Given the description of an element on the screen output the (x, y) to click on. 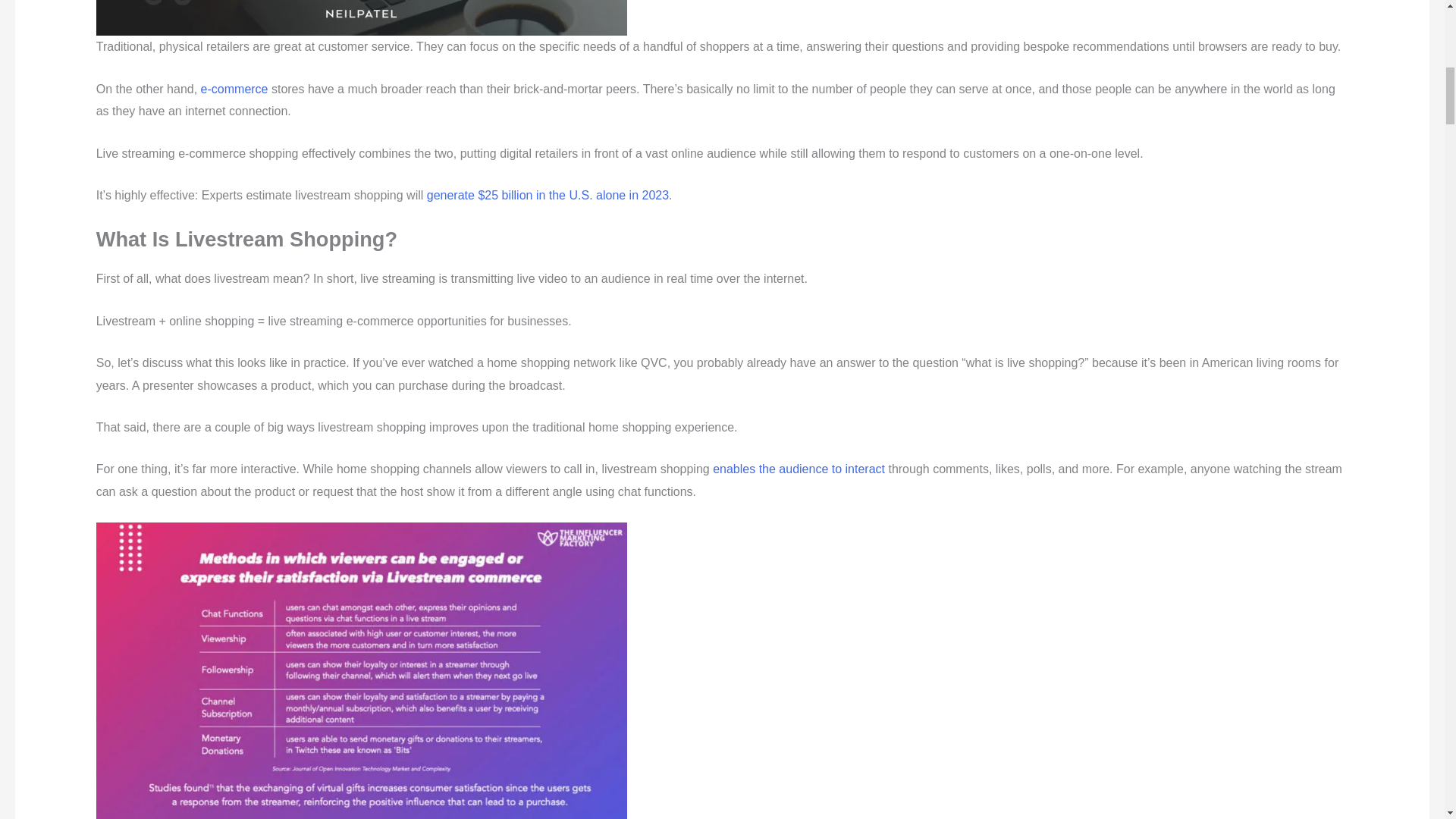
e-commerce (233, 88)
enables the audience to interact (799, 468)
